Given the description of an element on the screen output the (x, y) to click on. 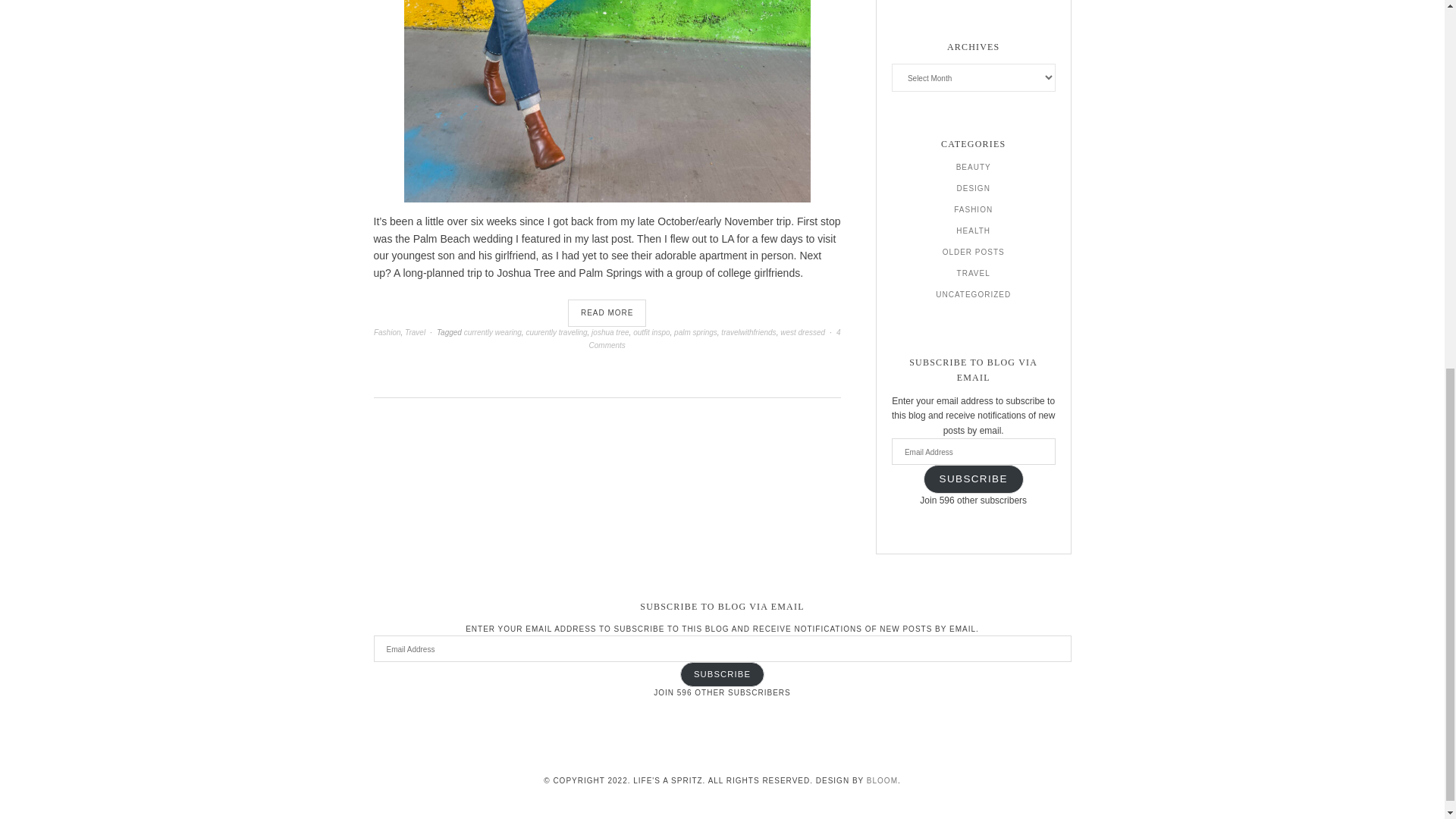
TRAVEL (973, 273)
currently wearing (492, 332)
UNCATEGORIZED (973, 294)
FASHION (972, 209)
BEAUTY (973, 166)
outfit inspo (651, 332)
DESIGN (973, 188)
READ MORE (606, 312)
4 Comments (715, 338)
travelwithfriends (748, 332)
